Given the description of an element on the screen output the (x, y) to click on. 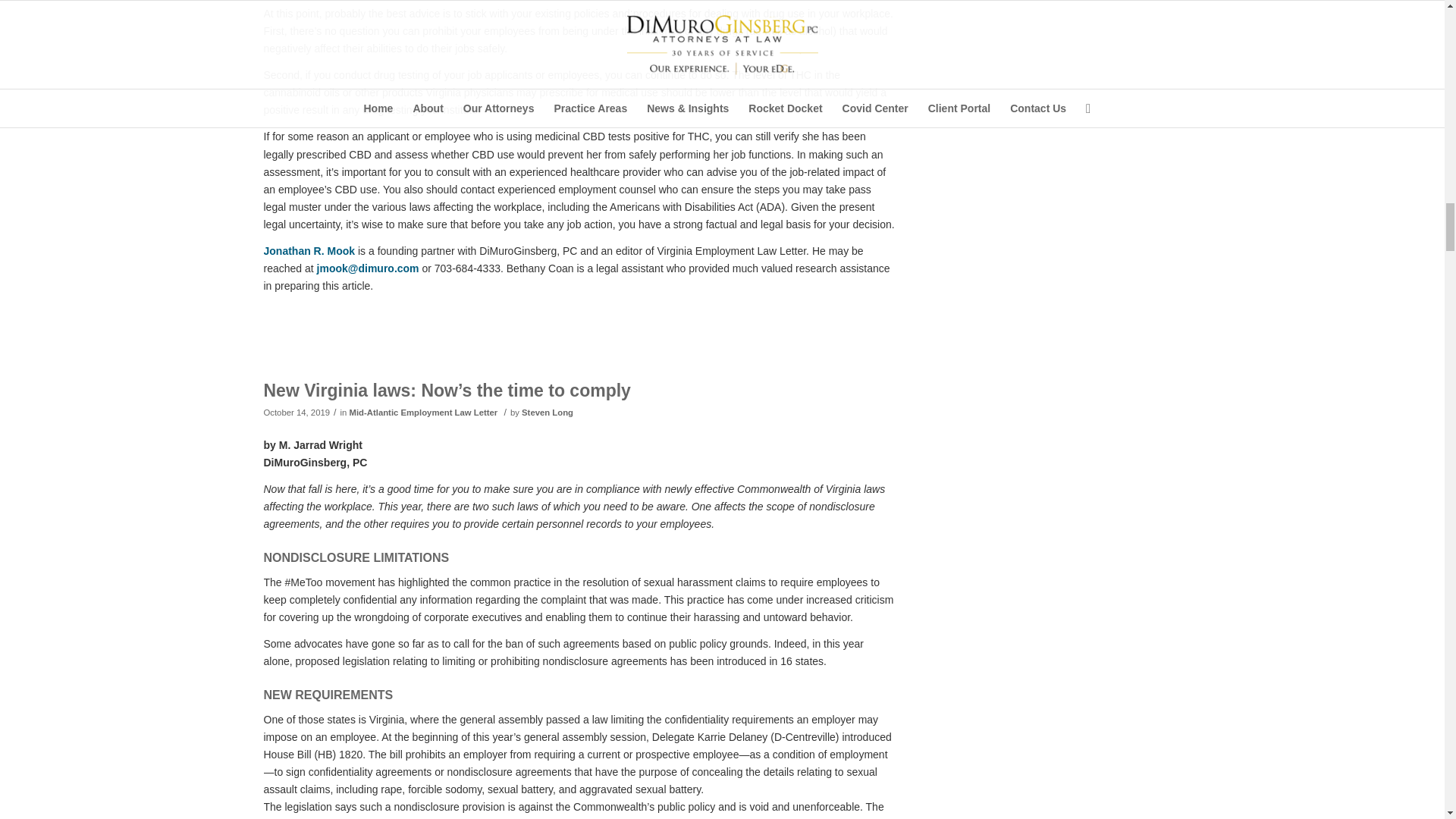
Posts by Steven Long (547, 411)
